Given the description of an element on the screen output the (x, y) to click on. 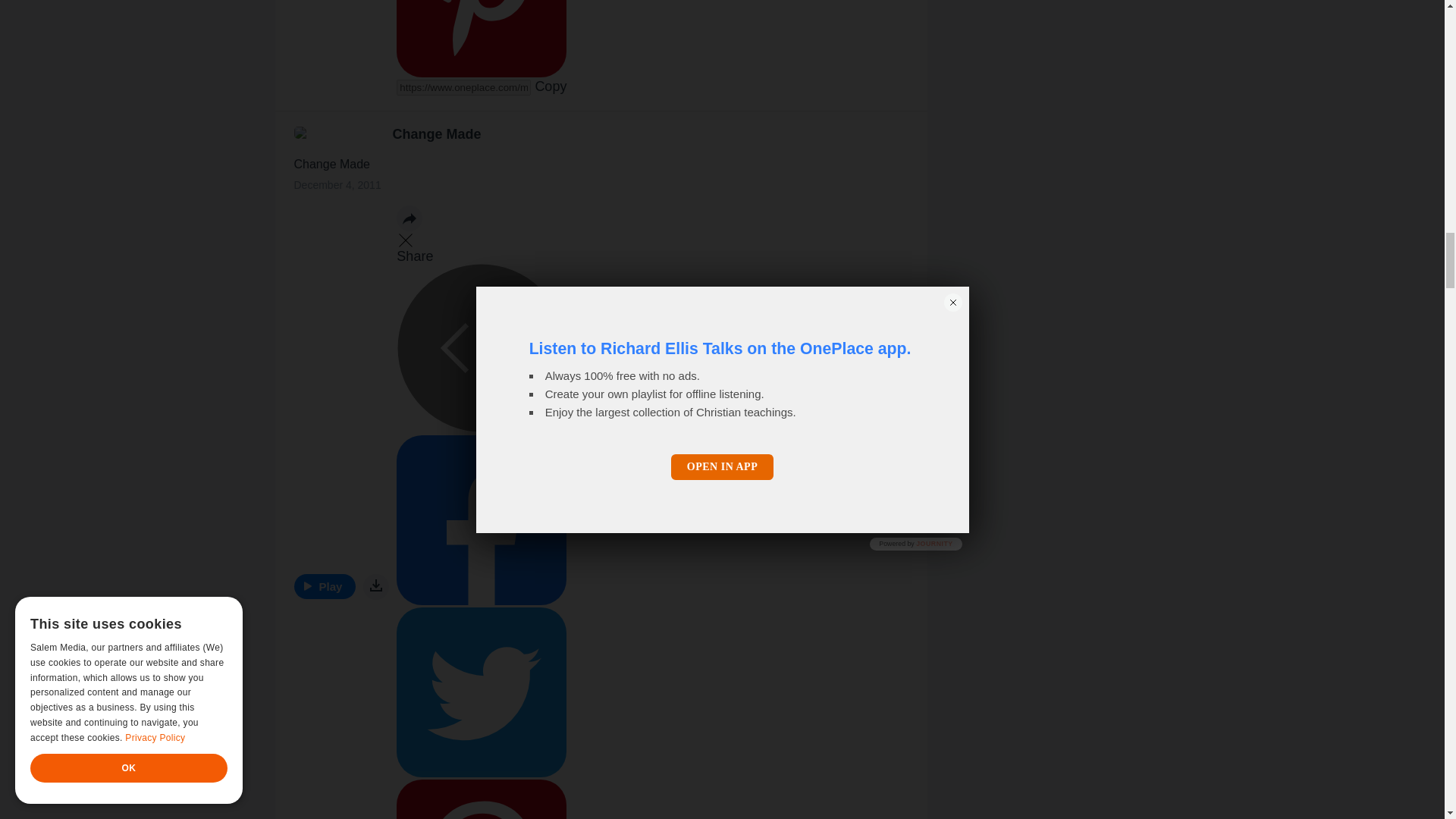
Change Made (437, 133)
Play (325, 586)
